Given the description of an element on the screen output the (x, y) to click on. 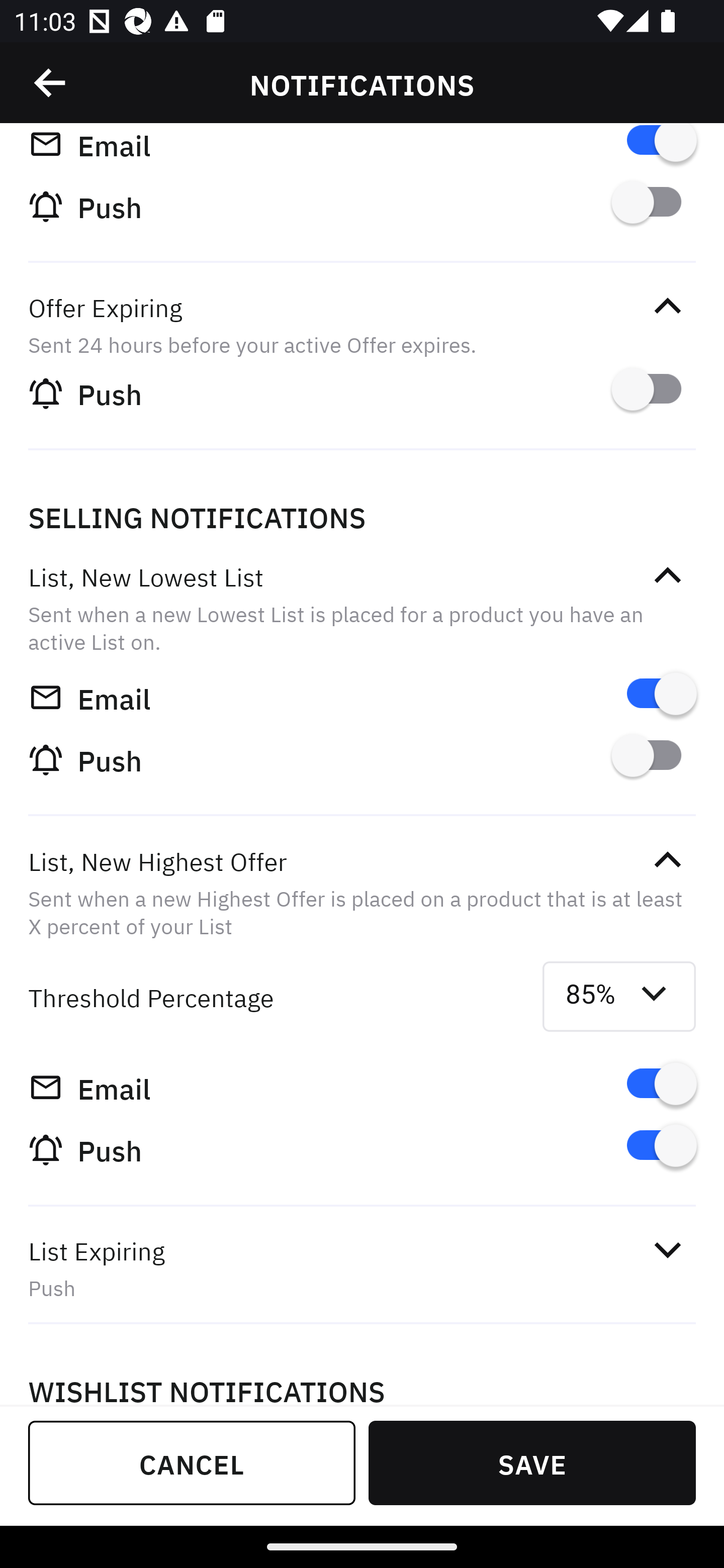
 (50, 83)
󰇰 Email 󰂟 Push (361, 194)
 (667, 306)
 (667, 575)
 (667, 859)
85%  (619, 996)
List Expiring  Push (361, 1268)
 (667, 1250)
CANCEL (191, 1462)
SAVE (531, 1462)
